Given the description of an element on the screen output the (x, y) to click on. 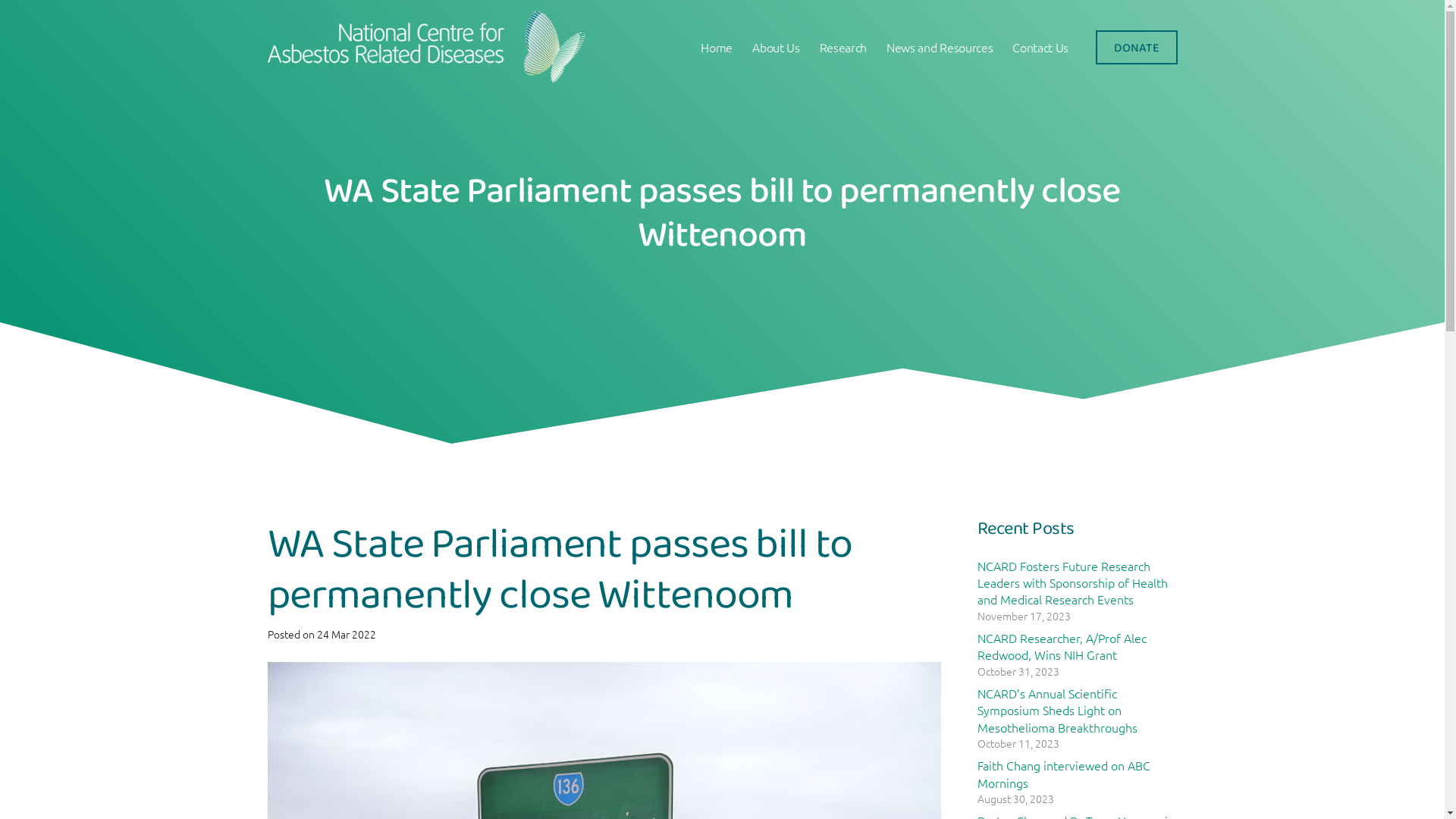
News and Resources Element type: text (939, 47)
About Us Element type: text (775, 47)
Home Element type: text (716, 47)
NCARD Researcher, A/Prof Alec Redwood, Wins NIH Grant Element type: text (1060, 645)
Contact Us Element type: text (1040, 47)
Faith Chang interviewed on ABC Mornings Element type: text (1062, 773)
DONATE Element type: text (1135, 47)
Research Element type: text (842, 47)
